Given the description of an element on the screen output the (x, y) to click on. 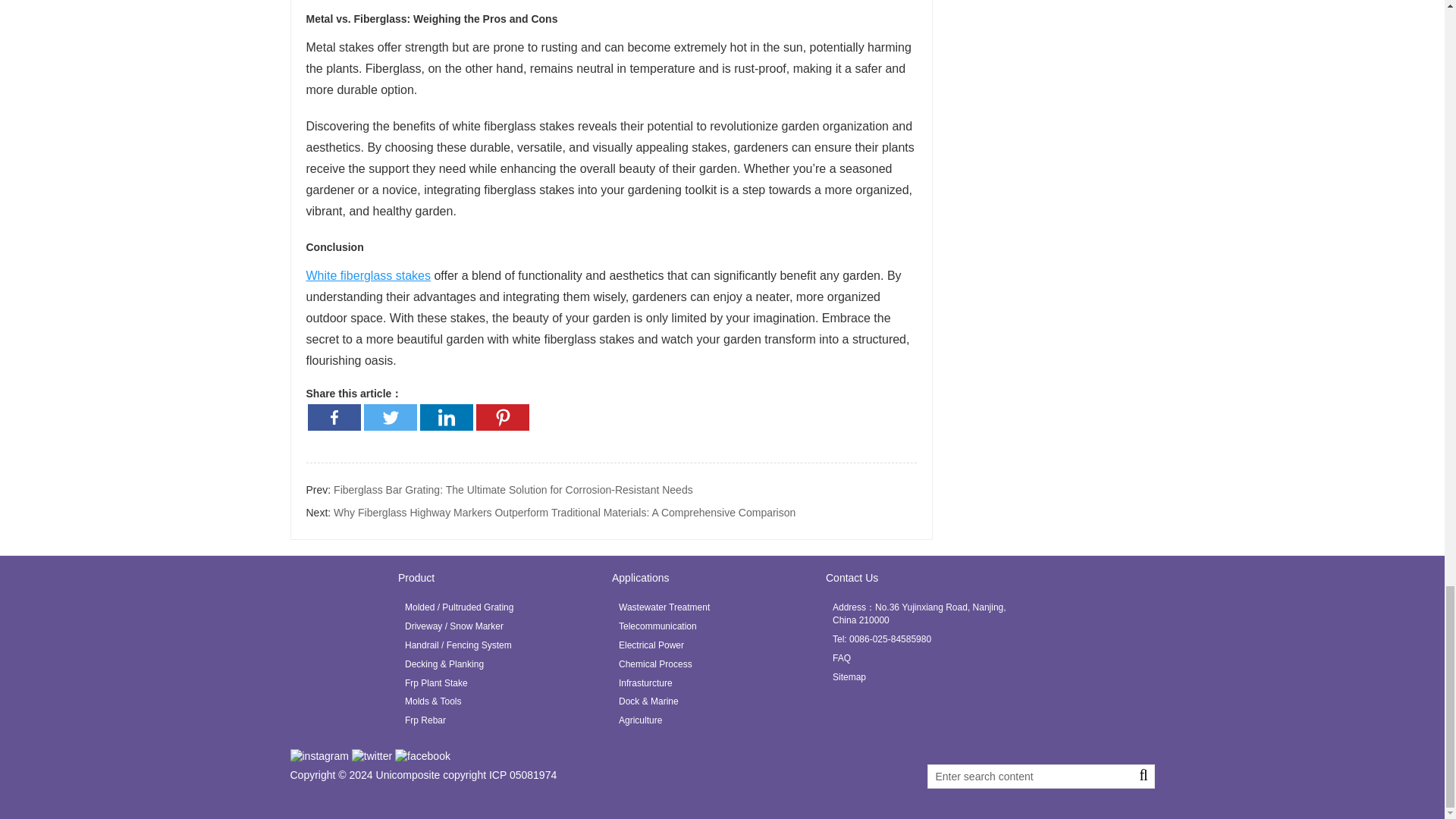
linkedin (318, 756)
twitter (371, 756)
Linkedin (446, 417)
facebook (421, 756)
Pinterest (502, 417)
Facebook (334, 417)
Twitter (390, 417)
